Given the description of an element on the screen output the (x, y) to click on. 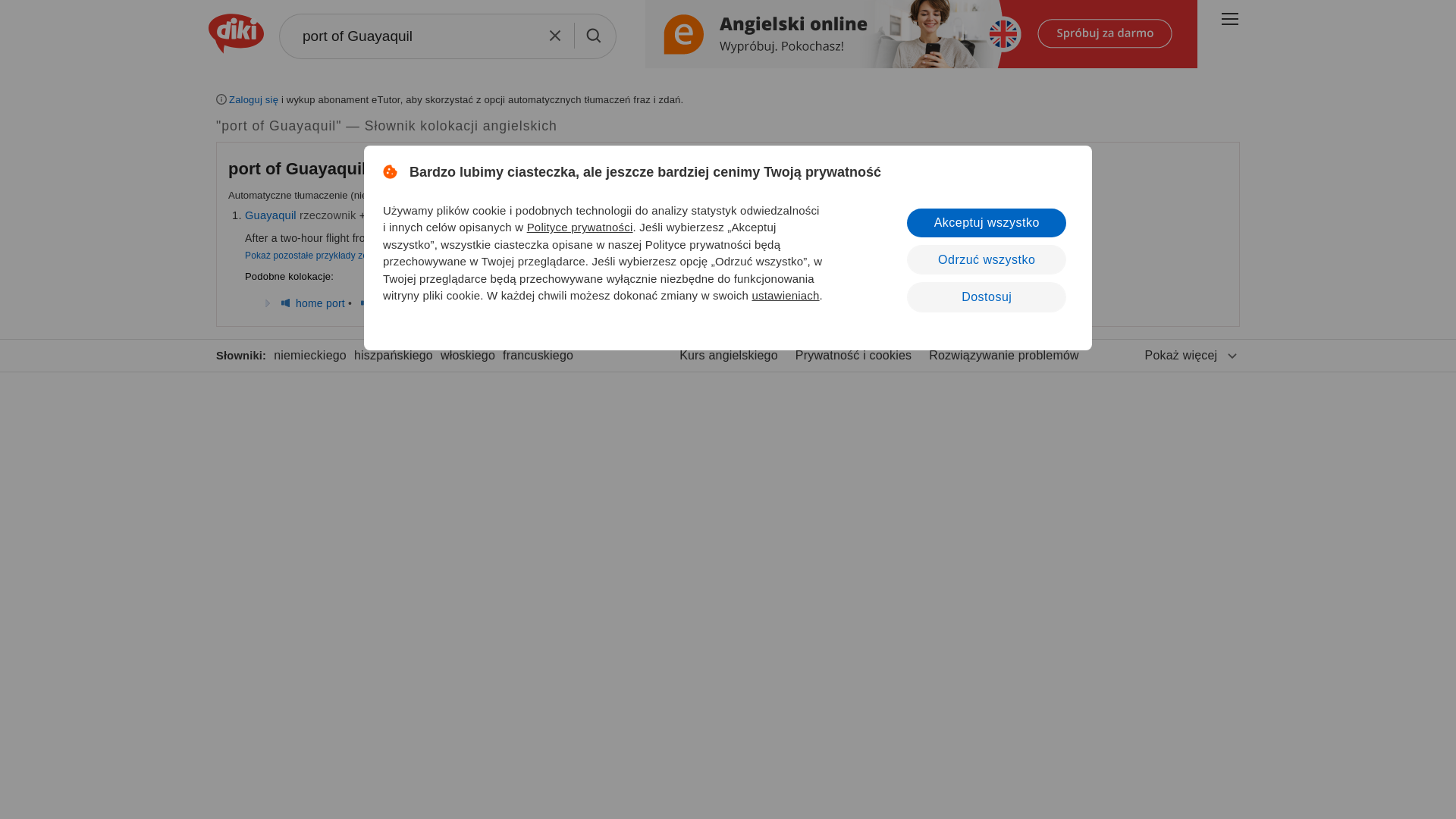
port of Guayaquil (447, 35)
Guayaquil (270, 215)
Dostosuj (986, 297)
Szukaj (593, 35)
port (378, 215)
American English (419, 215)
sea port (459, 303)
Uwaga: kolokacja wygenerowana automatycznie. (299, 168)
fishing port (402, 303)
British English (285, 303)
